Given the description of an element on the screen output the (x, y) to click on. 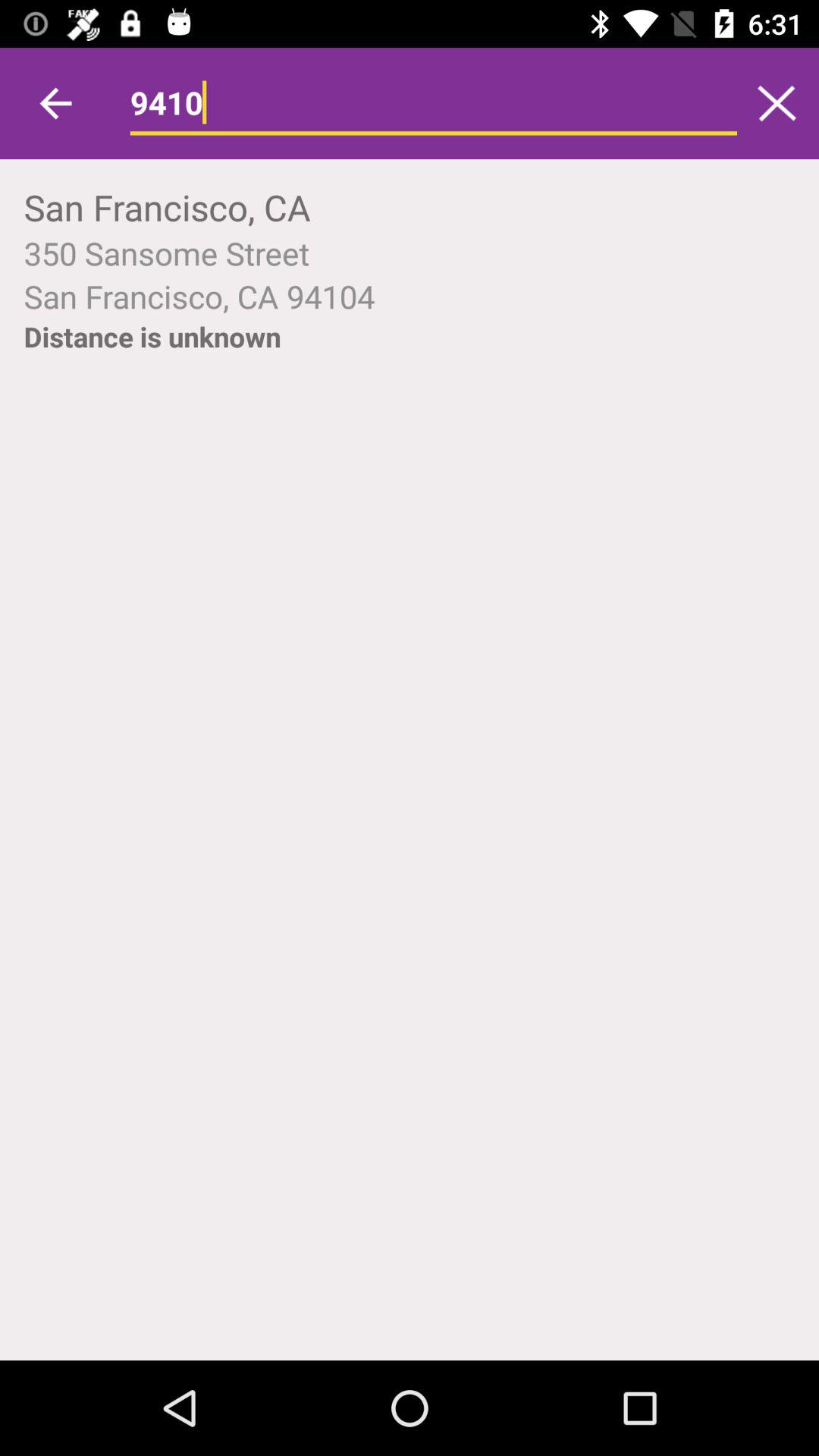
flip until 350 sansome street item (409, 252)
